Given the description of an element on the screen output the (x, y) to click on. 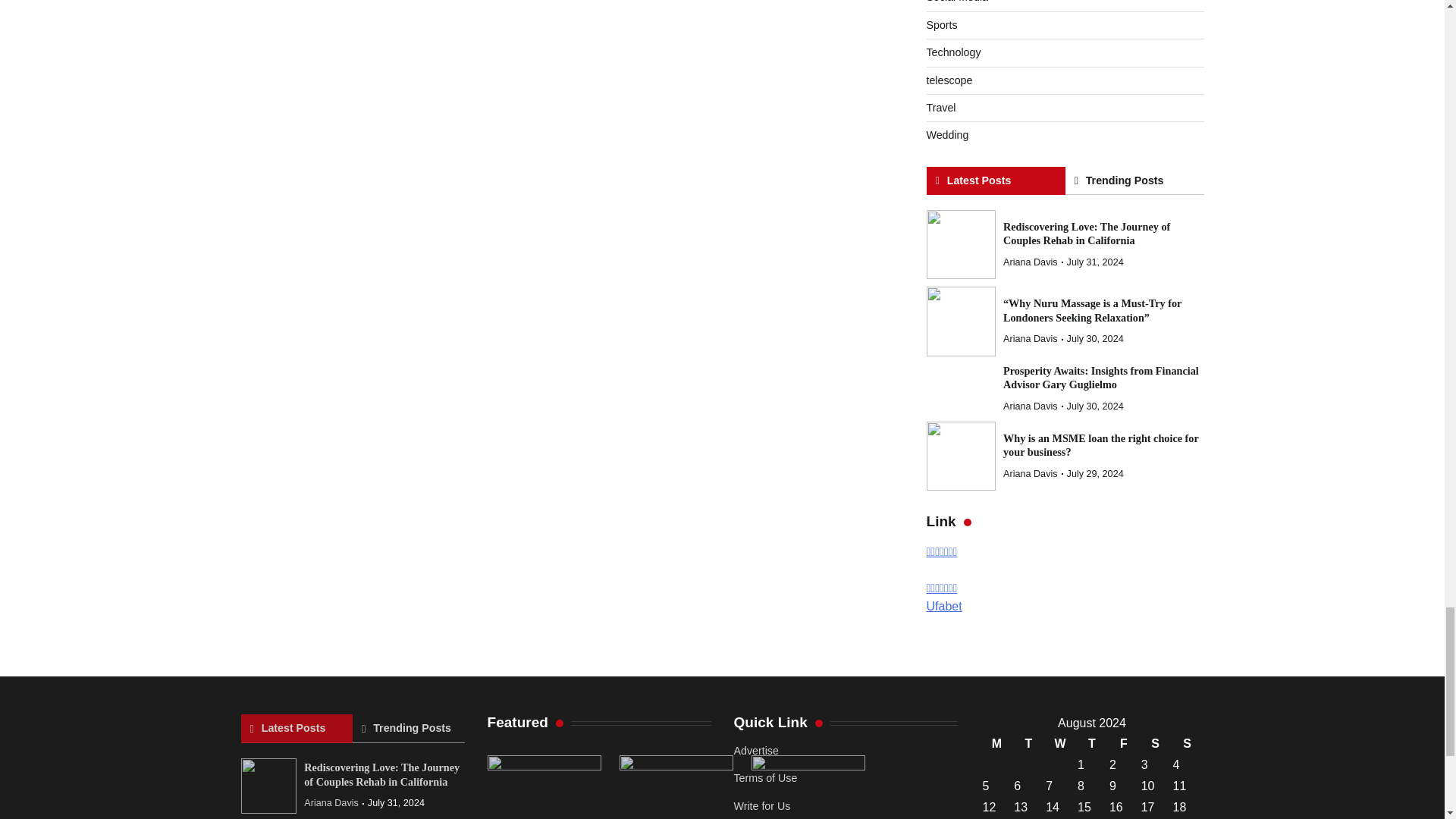
Friday (1123, 743)
Tuesday (1028, 743)
Sunday (1187, 743)
Saturday (1155, 743)
Monday (996, 743)
Thursday (1091, 743)
Wednesday (1060, 743)
